Given the description of an element on the screen output the (x, y) to click on. 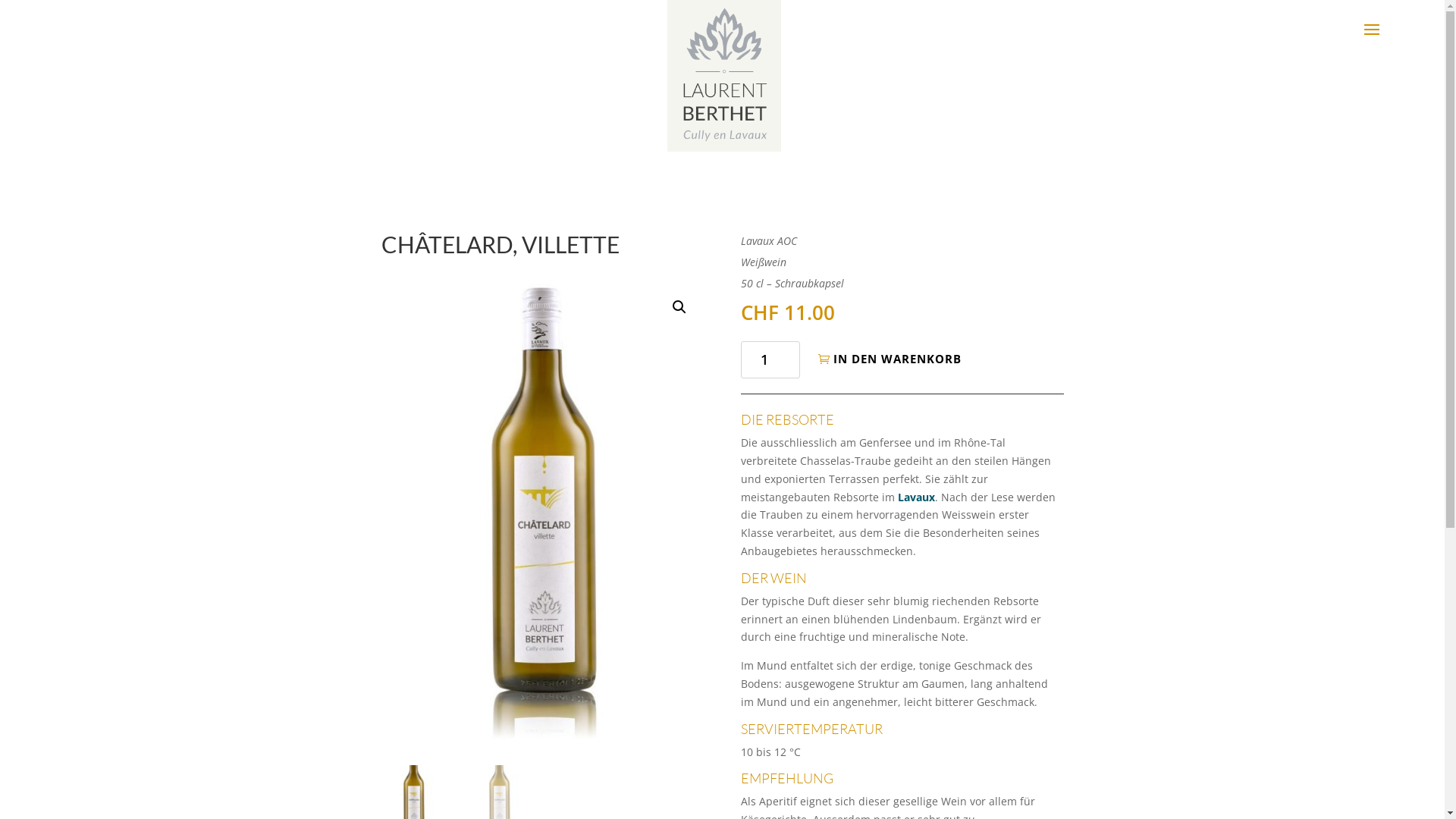
Menge Element type: hover (769, 359)
Villette-Chatelard-75Cl2 Element type: hover (541, 512)
IN DEN WARENKORB Element type: text (893, 359)
Lavaux Element type: text (916, 496)
